Given the description of an element on the screen output the (x, y) to click on. 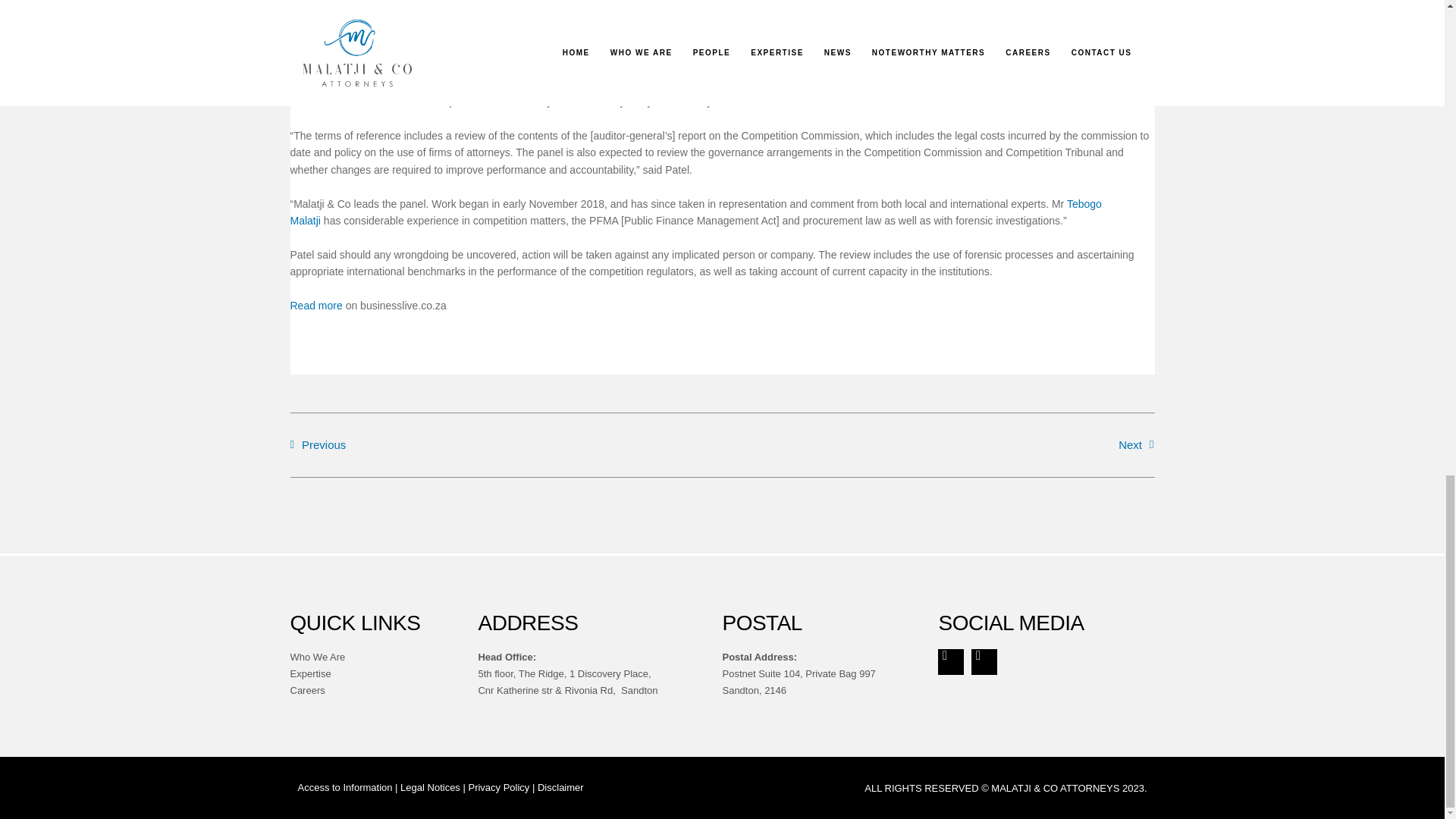
Read more (315, 305)
Tebogo Malatji (694, 211)
Who We Are (317, 656)
Previous (505, 444)
Next (938, 444)
